Given the description of an element on the screen output the (x, y) to click on. 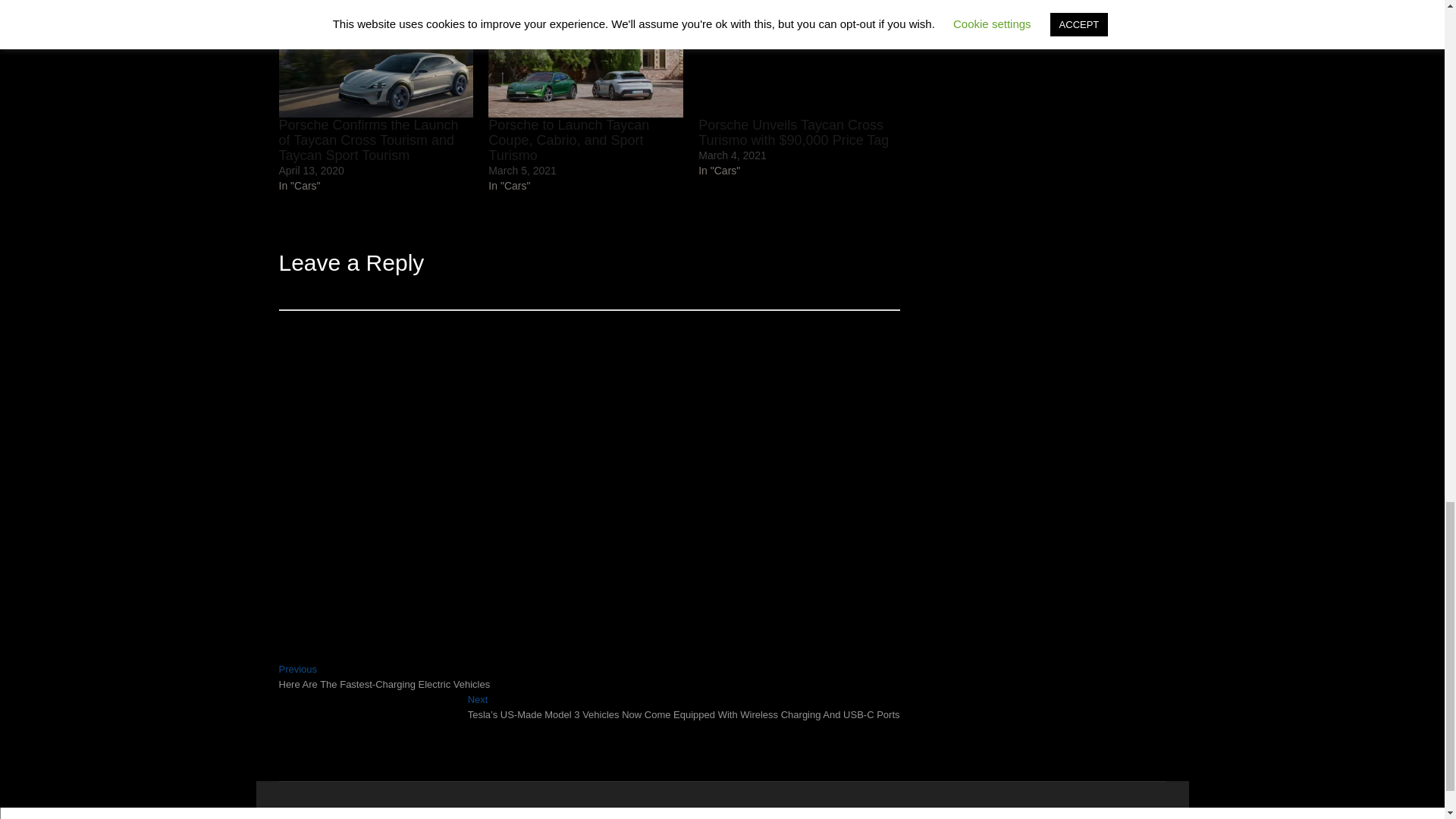
Porsche to Launch Taycan Coupe, Cabrio, and Sport Turismo (568, 139)
Porsche to Launch Taycan Coupe, Cabrio, and Sport Turismo (568, 139)
Porsche to Launch Taycan Coupe, Cabrio, and Sport Turismo (584, 61)
